Given the description of an element on the screen output the (x, y) to click on. 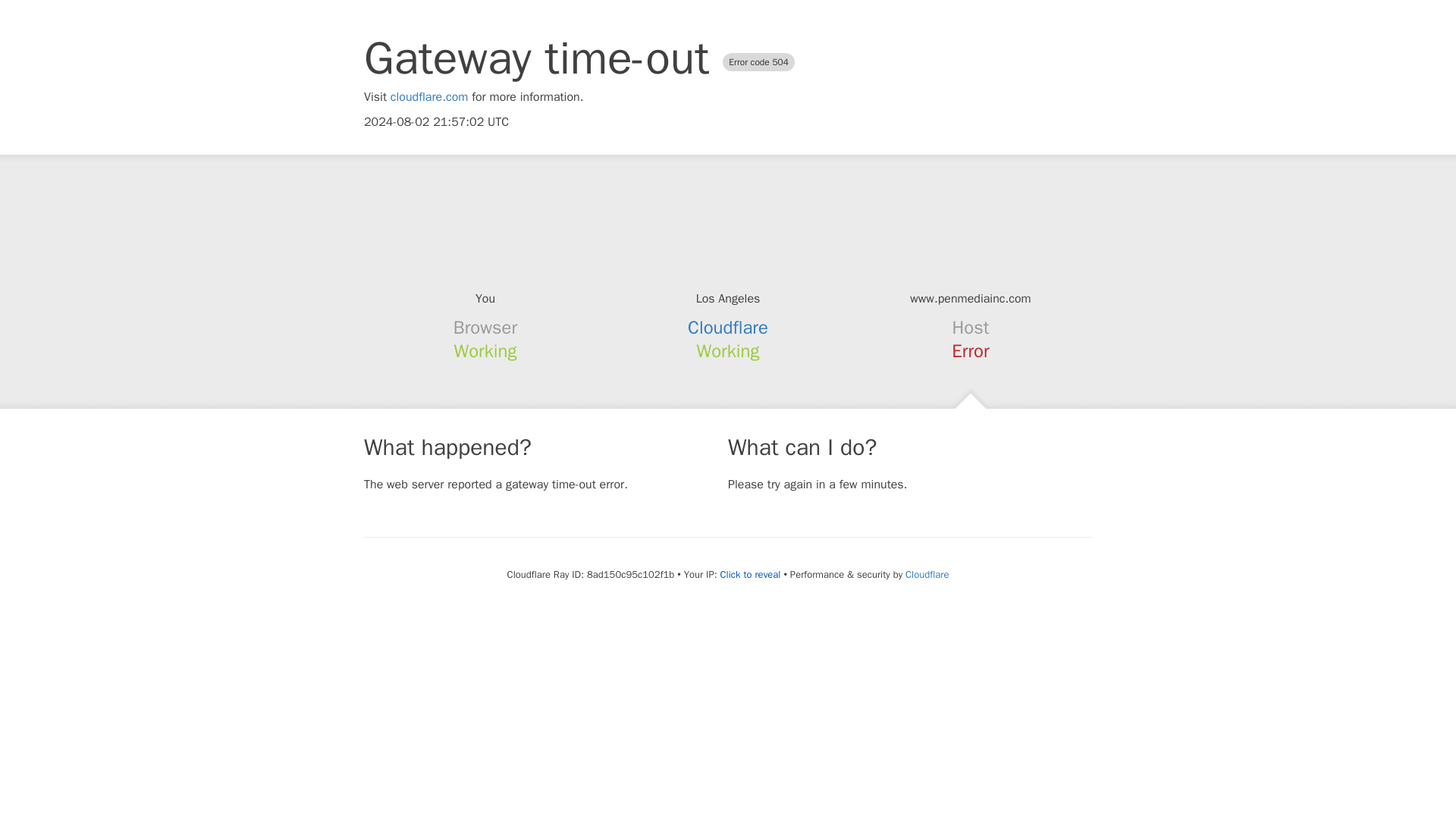
cloudflare.com (429, 96)
Cloudflare (927, 574)
Cloudflare (727, 327)
Click to reveal (750, 574)
